Given the description of an element on the screen output the (x, y) to click on. 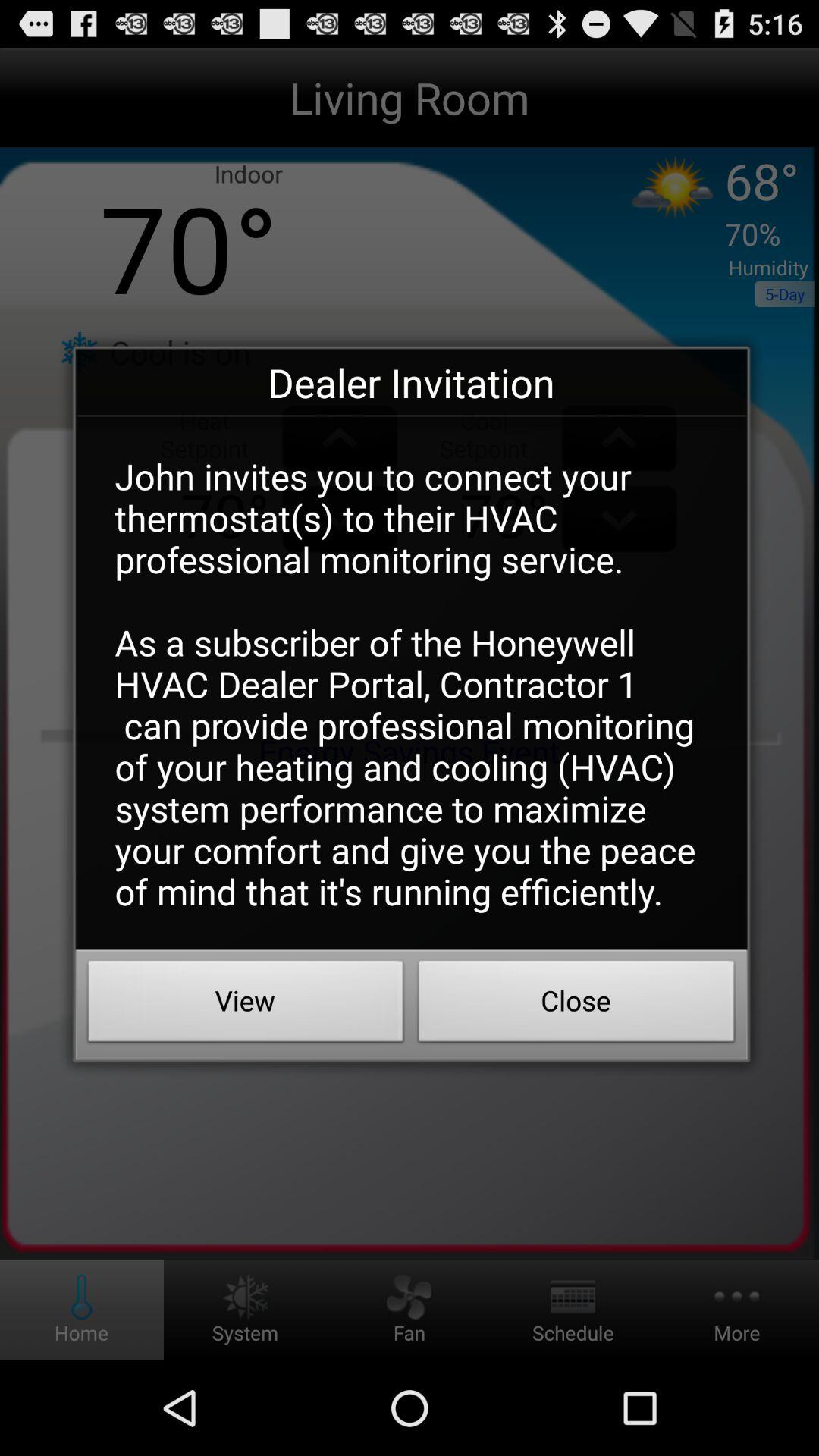
click app below the john invites you (245, 1005)
